Given the description of an element on the screen output the (x, y) to click on. 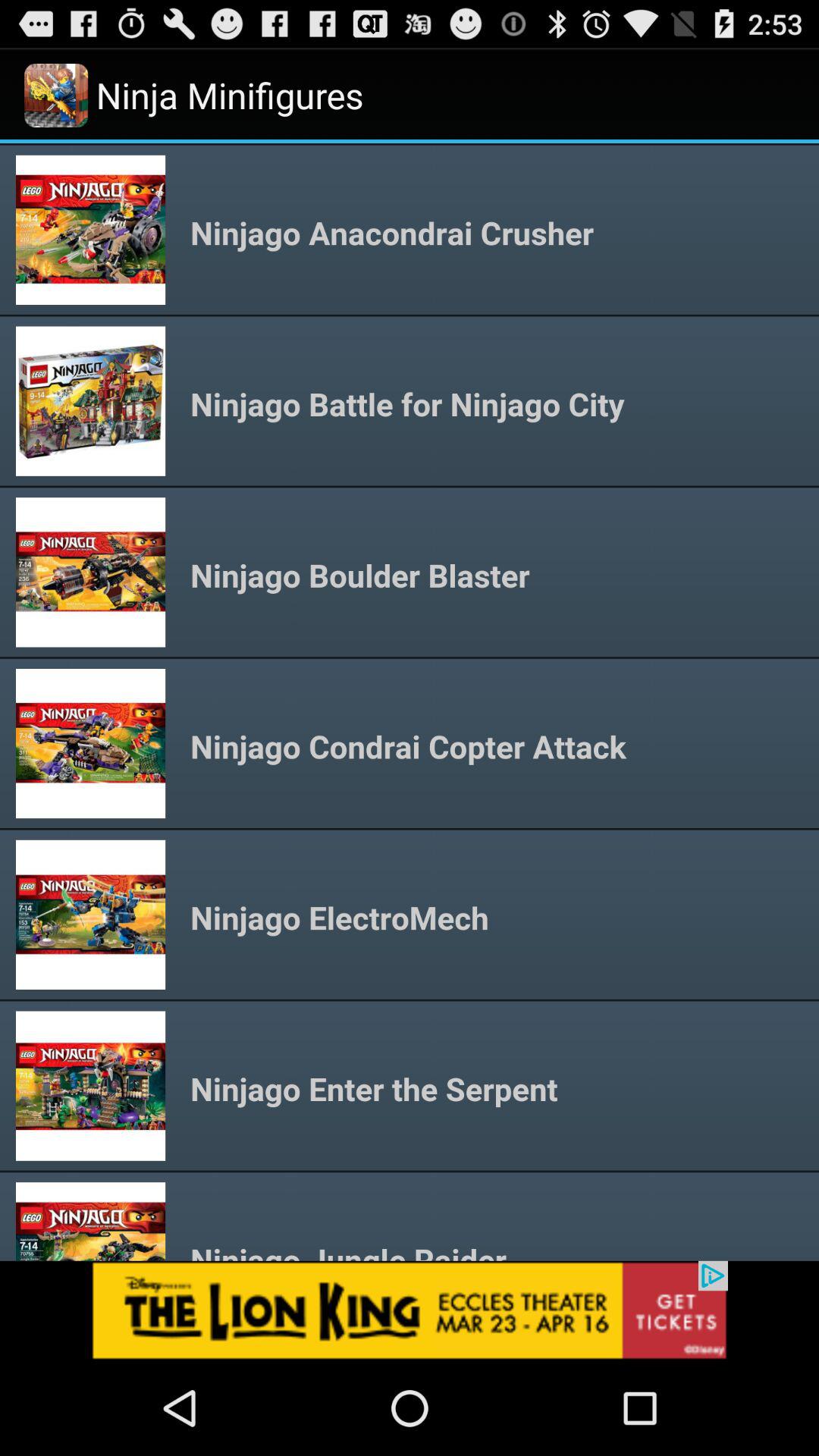
open page (409, 1310)
